Given the description of an element on the screen output the (x, y) to click on. 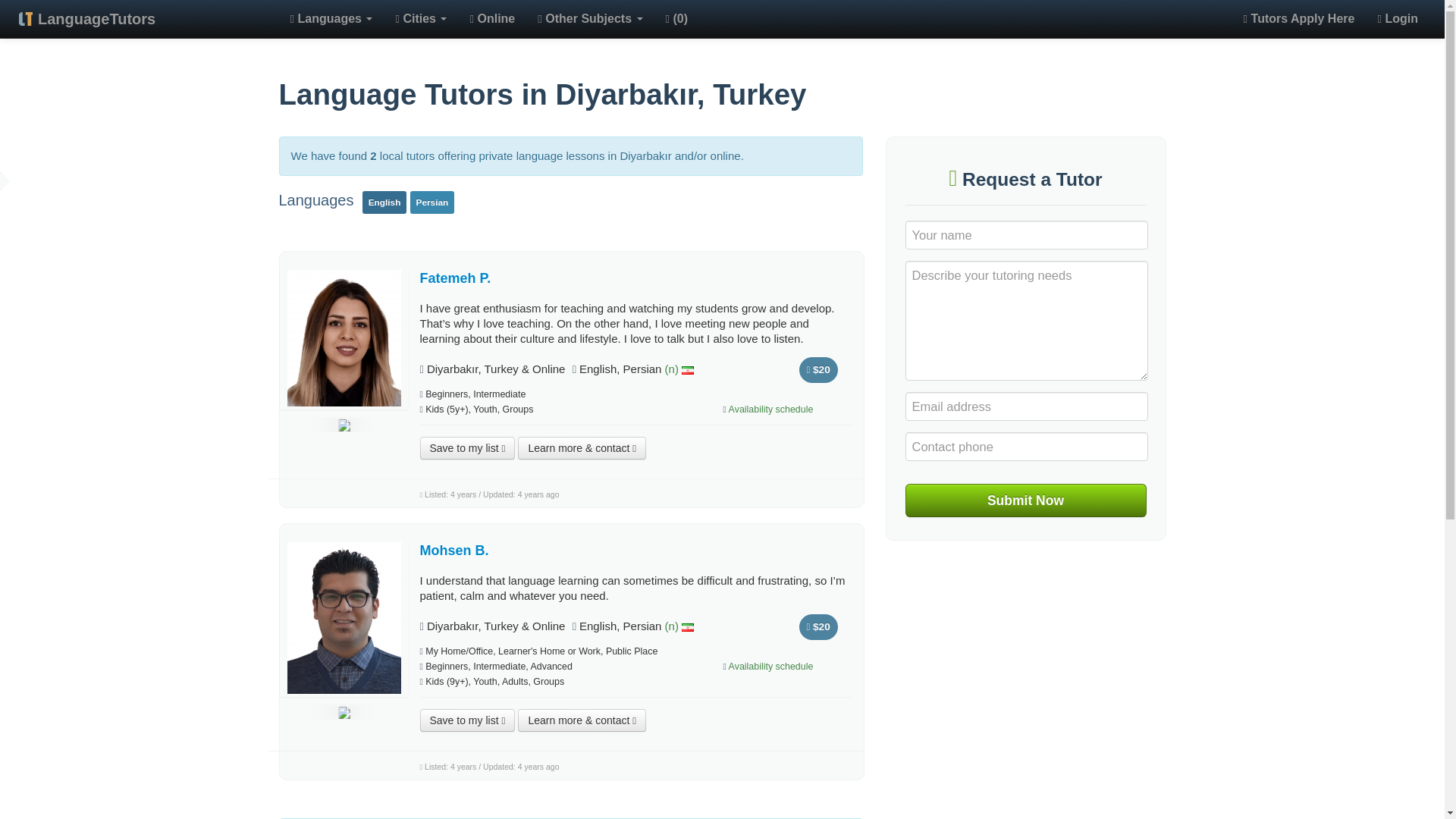
Fatemeh P. (456, 278)
Native speaker (669, 625)
Cities (421, 19)
Native speaker (669, 368)
Video introduction (343, 711)
Rate per hour (818, 370)
Originally from Iran (687, 370)
Online (491, 19)
Where I am available for lessons (496, 625)
Save to my list (467, 447)
